Given the description of an element on the screen output the (x, y) to click on. 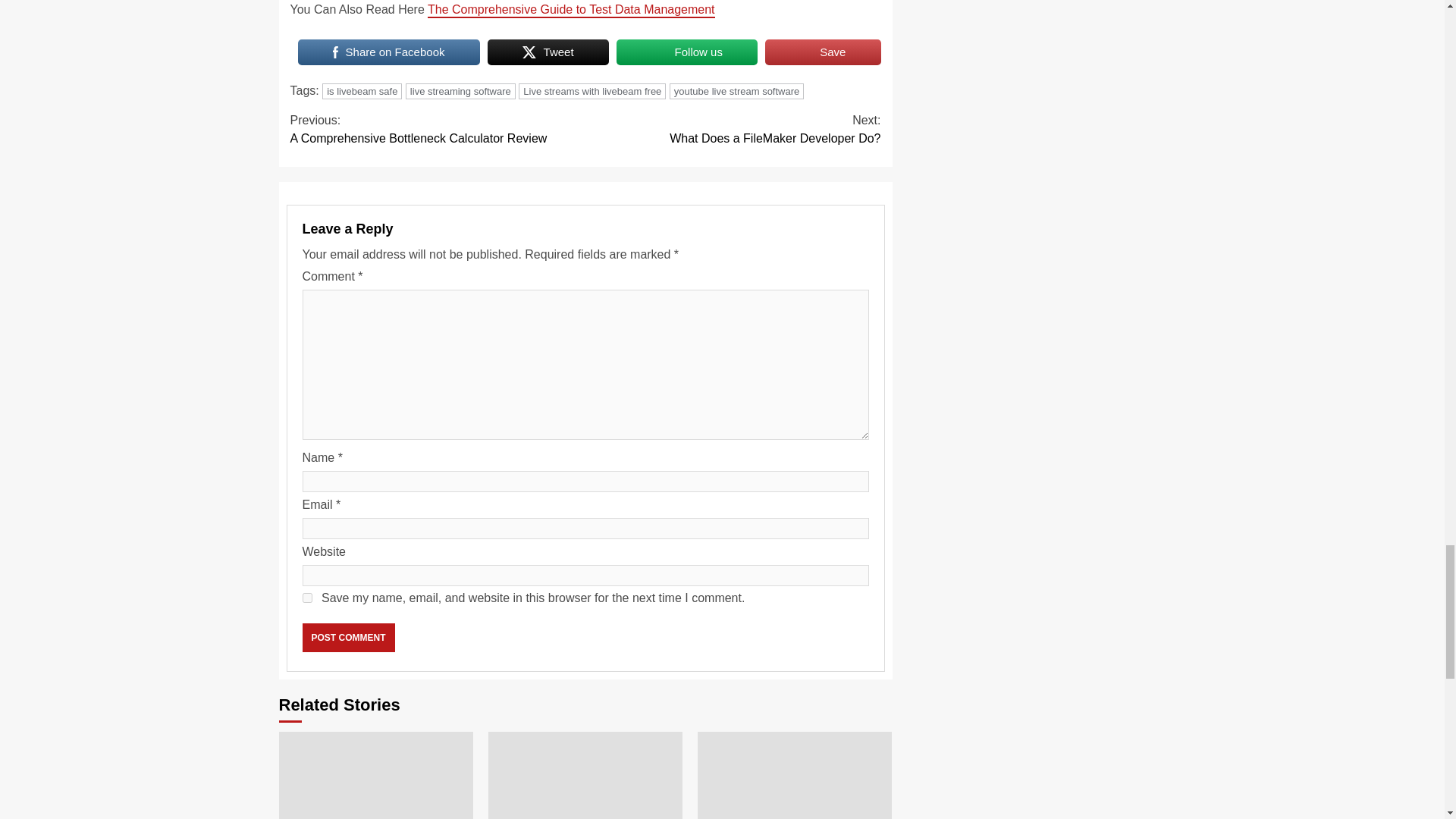
live streaming software (460, 91)
Follow us (437, 129)
is livebeam safe (686, 51)
Post Comment (361, 91)
youtube live stream software (347, 637)
Tweet (736, 91)
Save (547, 51)
Post Comment (822, 51)
The Comprehensive Guide to Test Data Management (347, 637)
Share on Facebook (732, 129)
Live streams with livebeam free (571, 10)
yes (388, 51)
